Given the description of an element on the screen output the (x, y) to click on. 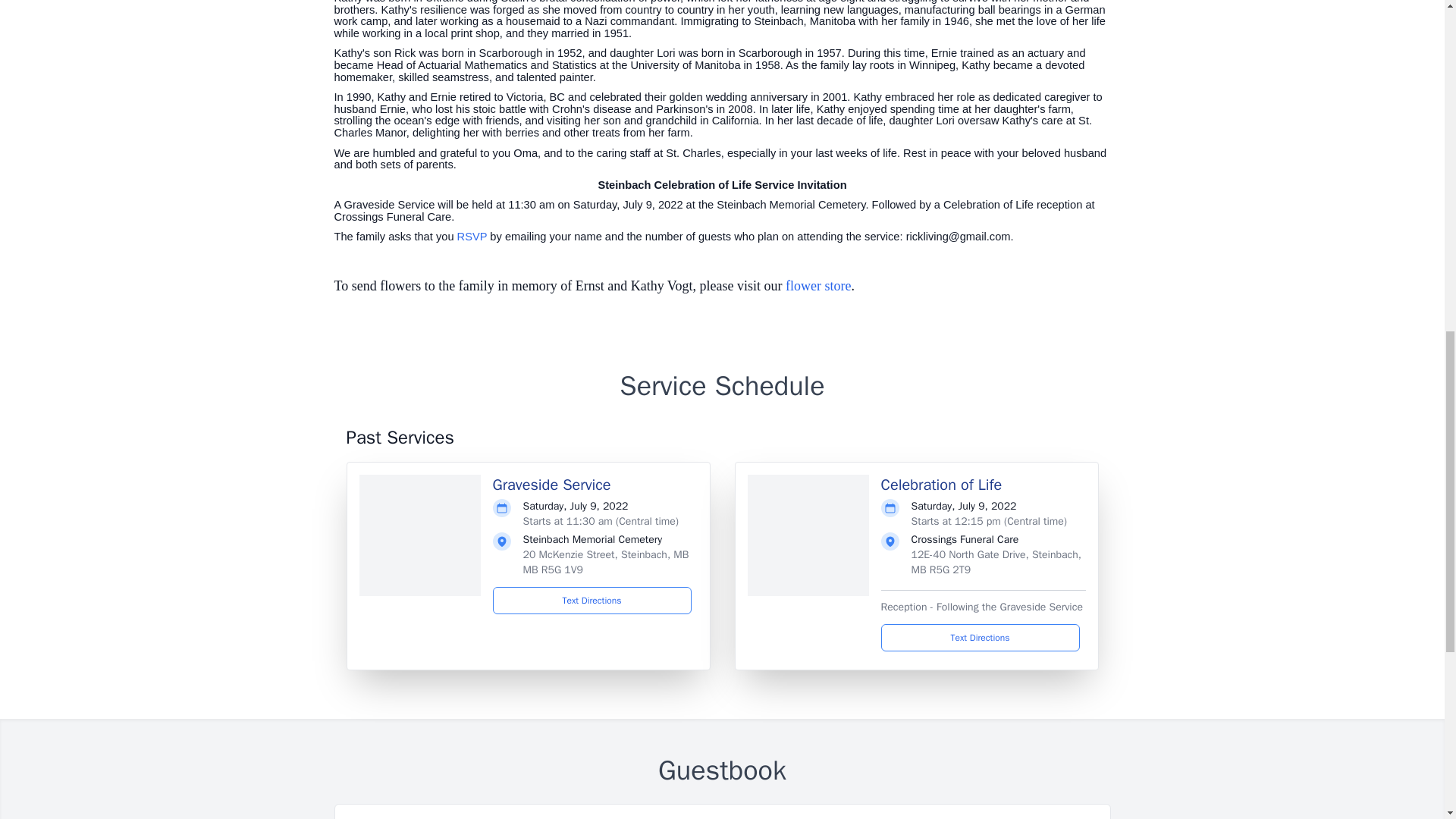
flower store (818, 285)
12E-40 North Gate Drive, Steinbach, MB R5G 2T9 (996, 561)
Text Directions (980, 637)
20 McKenzie Street, Steinbach, MB MB R5G 1V9 (605, 561)
Text Directions (592, 600)
RSVP (472, 236)
